Given the description of an element on the screen output the (x, y) to click on. 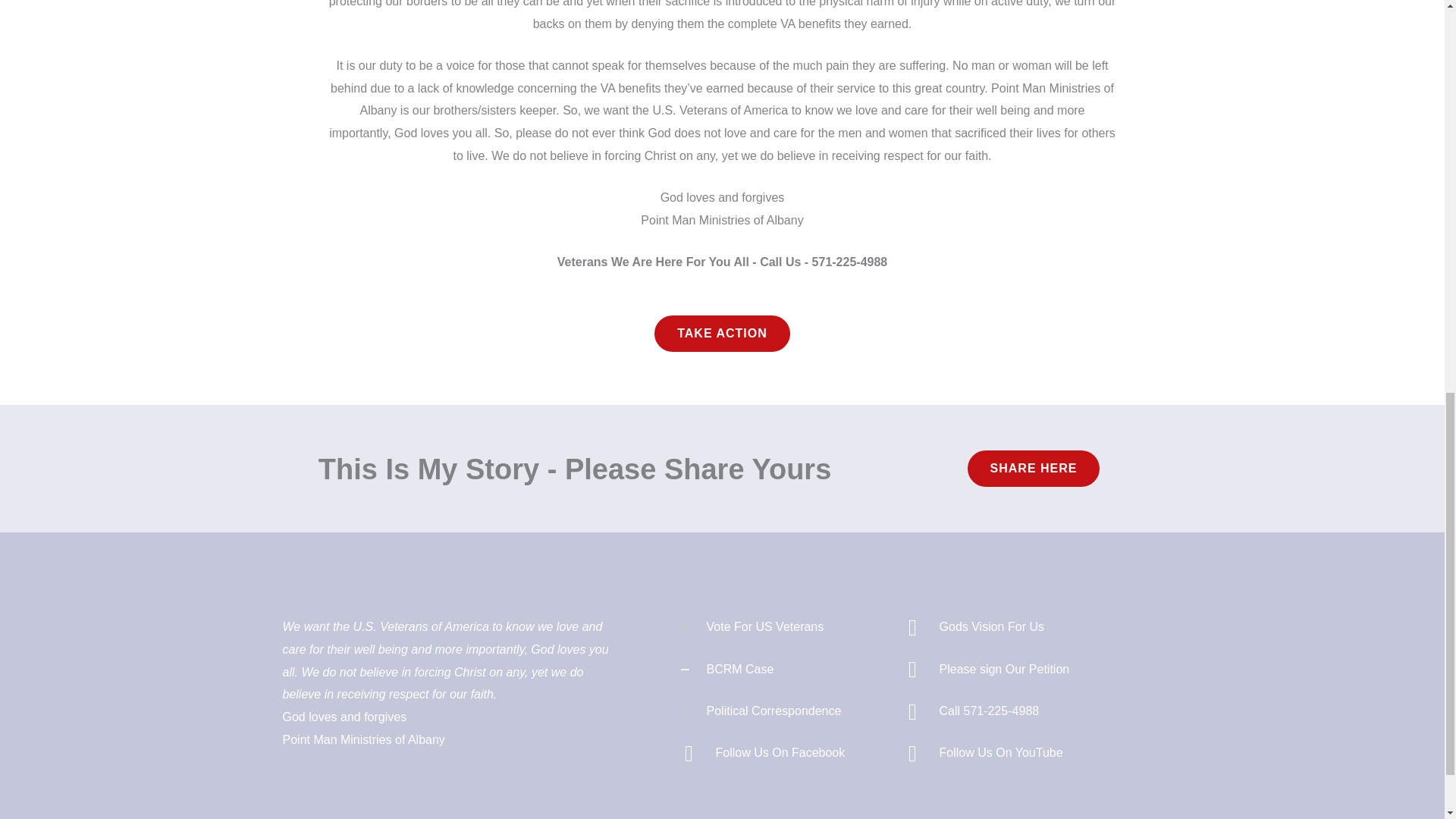
SHARE HERE (1034, 468)
Click Here (721, 333)
Gods Vision For Us (991, 626)
Political Correspondence (773, 710)
Vote For US Veterans (765, 626)
TAKE ACTION (721, 333)
Please sign Our Petition (1004, 668)
BCRM Case (740, 668)
Click Here (1034, 468)
